Given the description of an element on the screen output the (x, y) to click on. 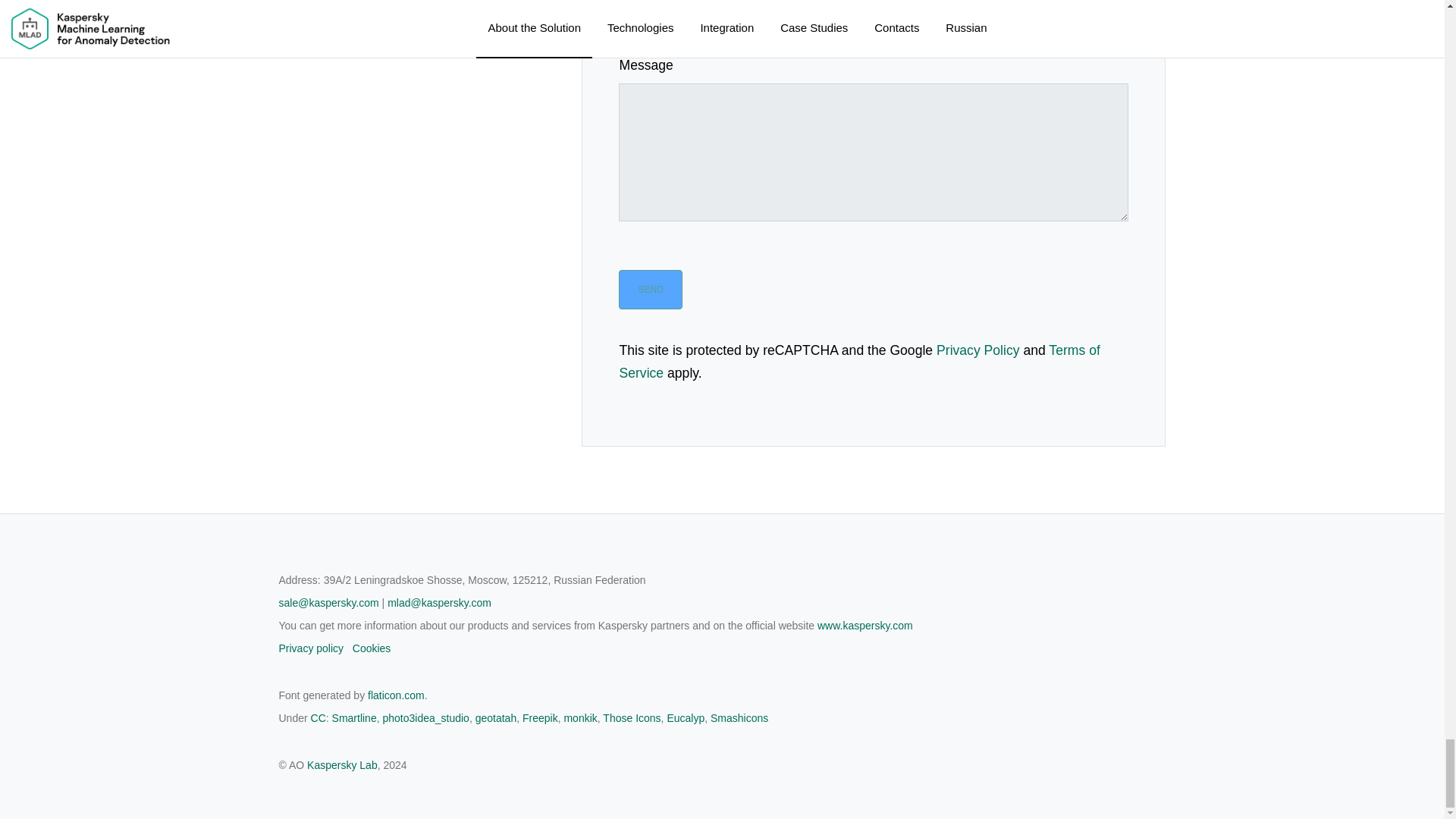
Privacy policy (311, 816)
Terms of Service (858, 533)
www.kaspersky.com (864, 797)
Send (649, 461)
Cookies (371, 816)
Privacy Policy (978, 522)
Send (649, 461)
